Given the description of an element on the screen output the (x, y) to click on. 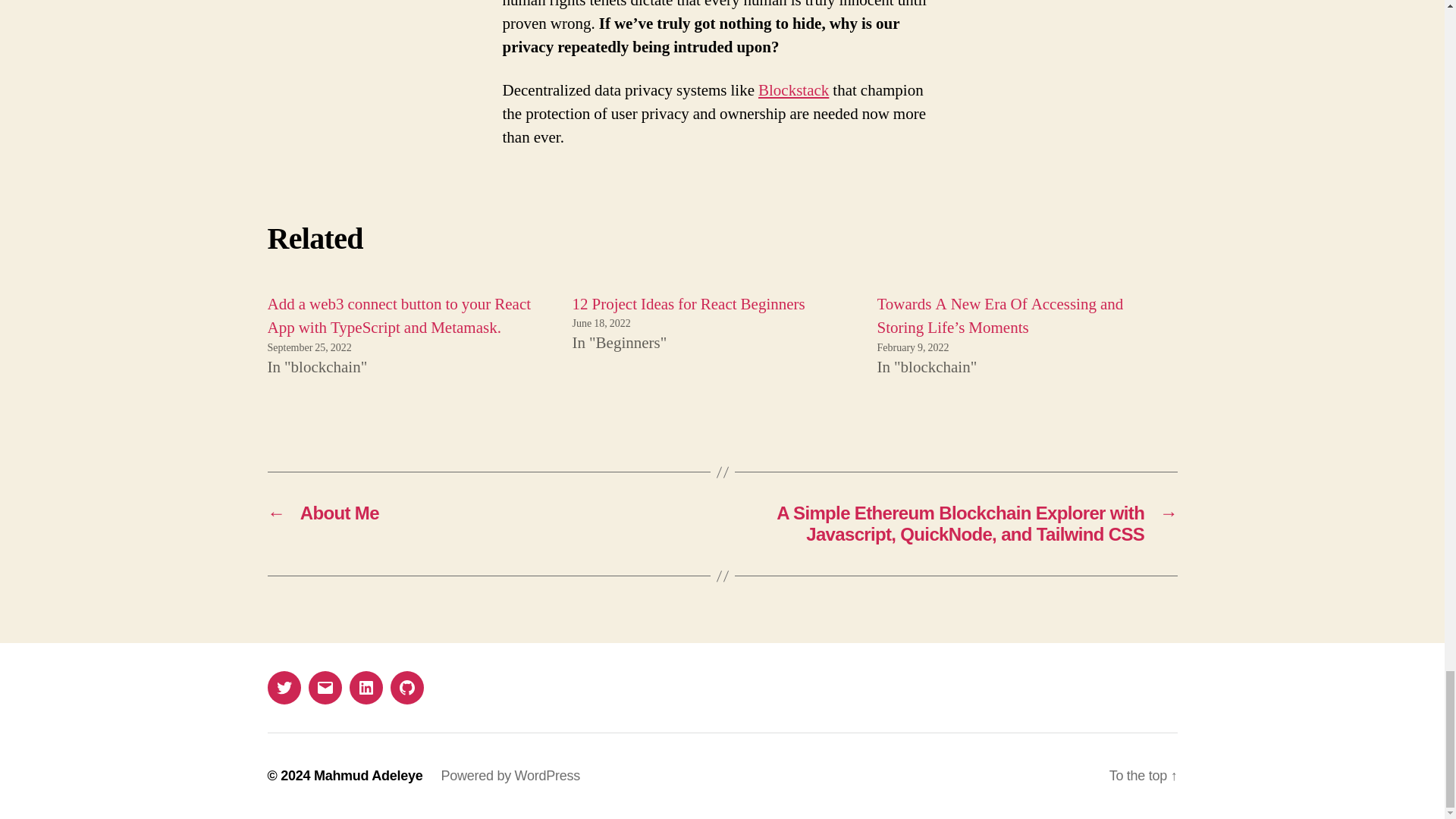
Email (323, 687)
Powered by WordPress (510, 775)
12 Project Ideas for React Beginners (688, 304)
Twitter (282, 687)
Mahmud Adeleye (368, 775)
GitHub (406, 687)
Blockstack (793, 90)
LinkedIn (365, 687)
12 Project Ideas for React Beginners (688, 304)
